Given the description of an element on the screen output the (x, y) to click on. 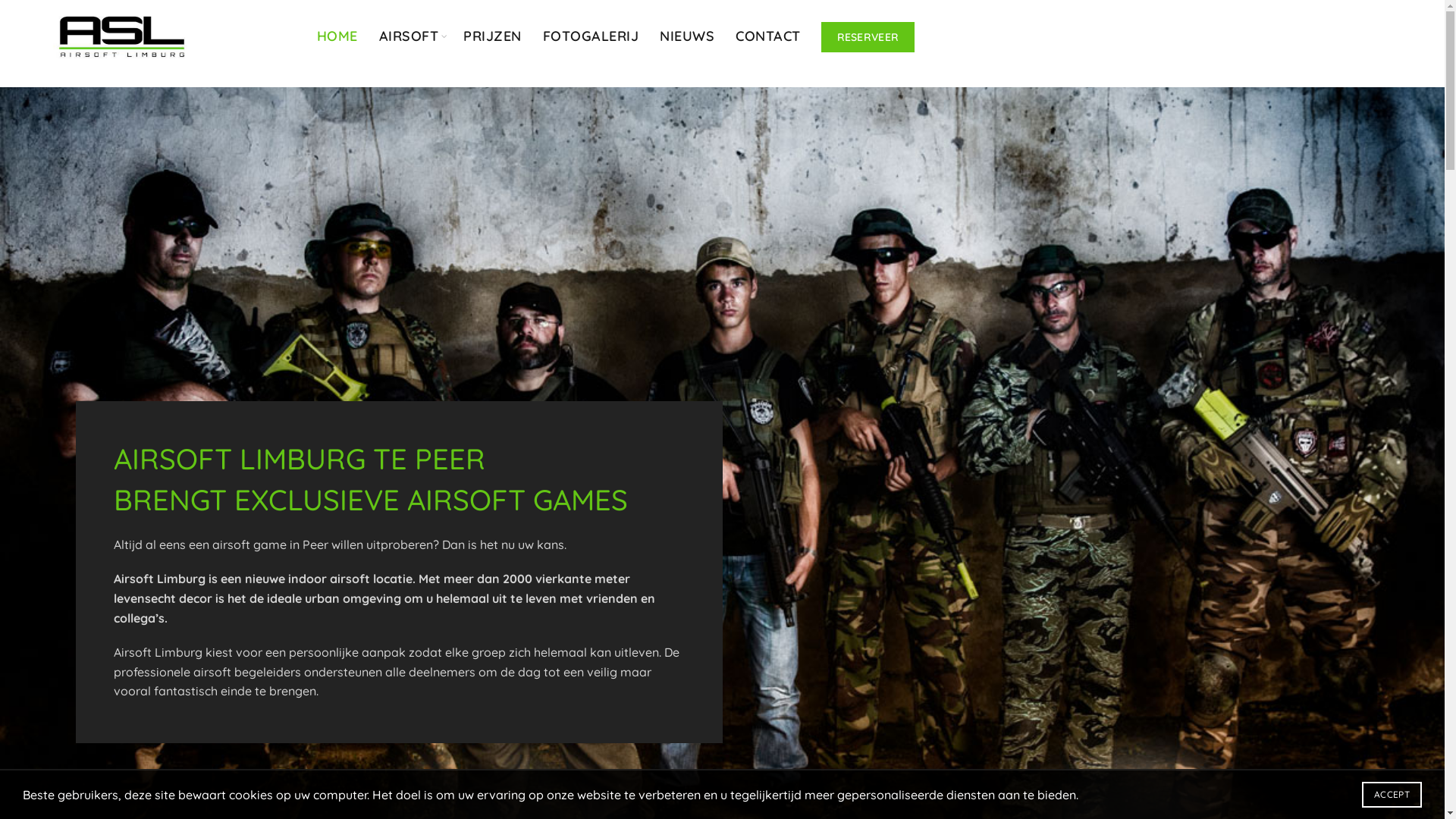
AIRSOFT Element type: text (408, 36)
CONTACT Element type: text (767, 36)
HOME Element type: text (337, 36)
ACCEPT Element type: text (1391, 794)
PRIJZEN Element type: text (492, 36)
FOTOGALERIJ Element type: text (591, 36)
NIEUWS Element type: text (686, 36)
RESERVEER Element type: text (868, 36)
